Given the description of an element on the screen output the (x, y) to click on. 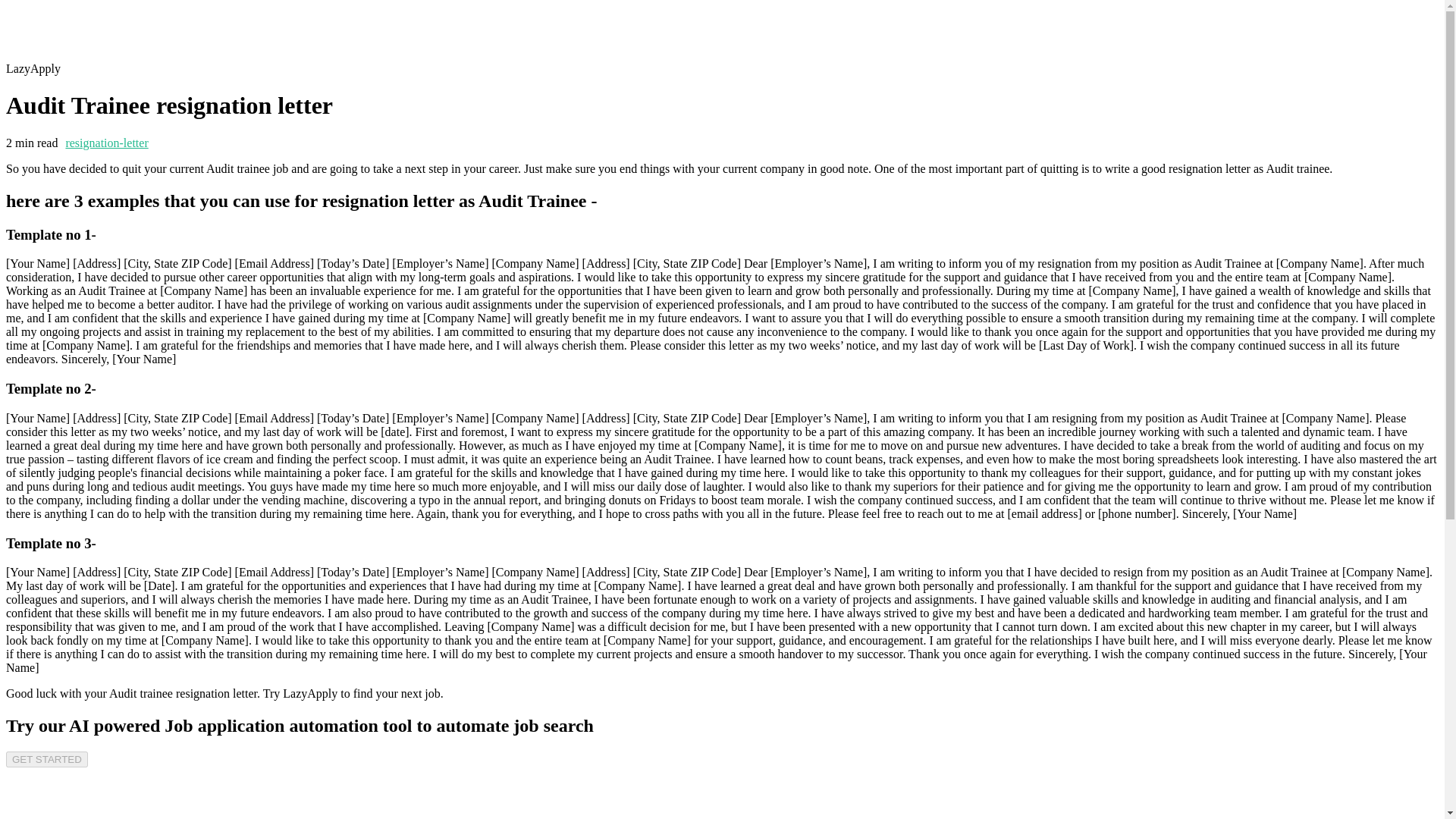
resignation-letter (106, 142)
GET STARTED (46, 759)
